Given the description of an element on the screen output the (x, y) to click on. 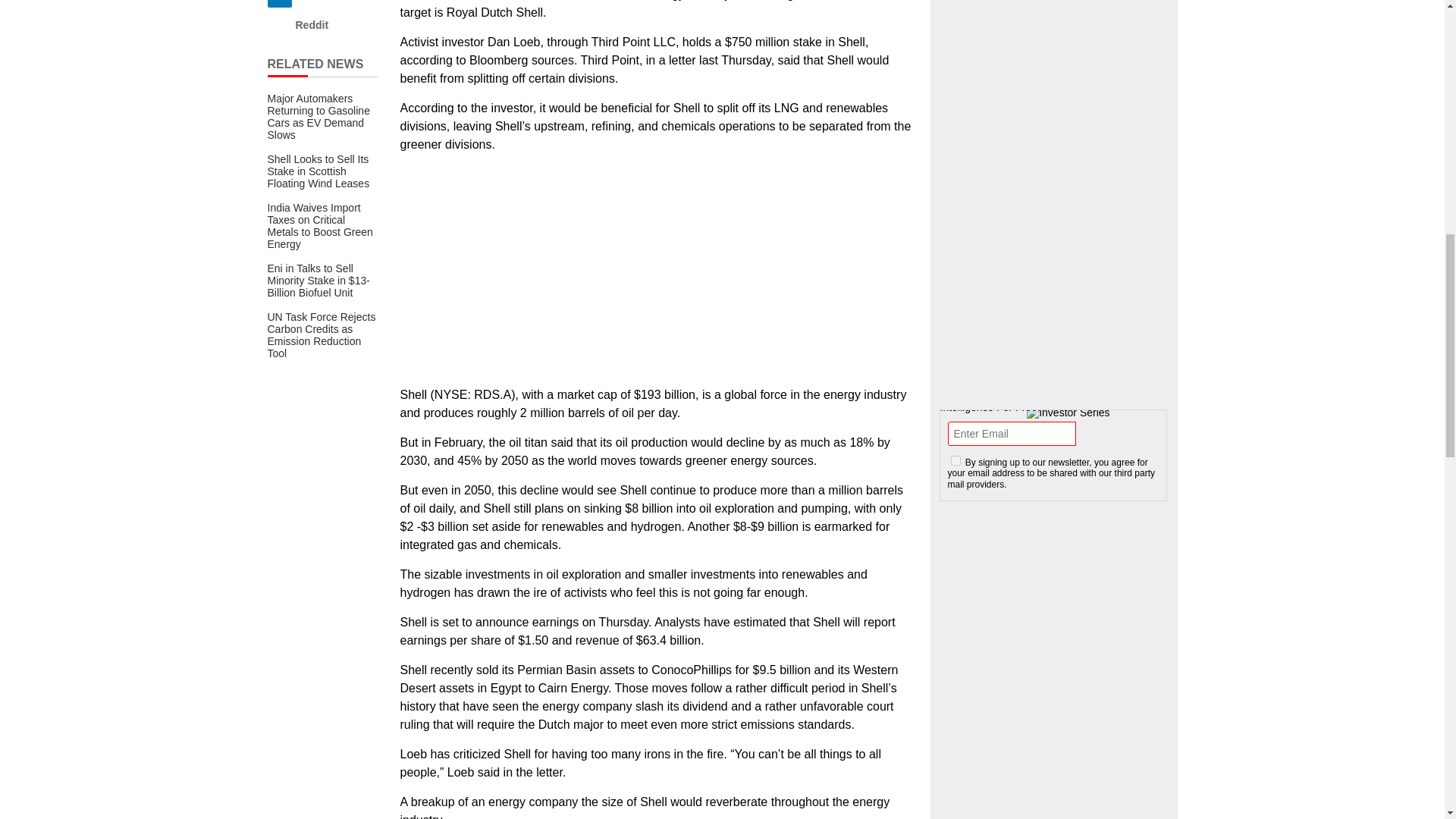
1 (955, 460)
